Given the description of an element on the screen output the (x, y) to click on. 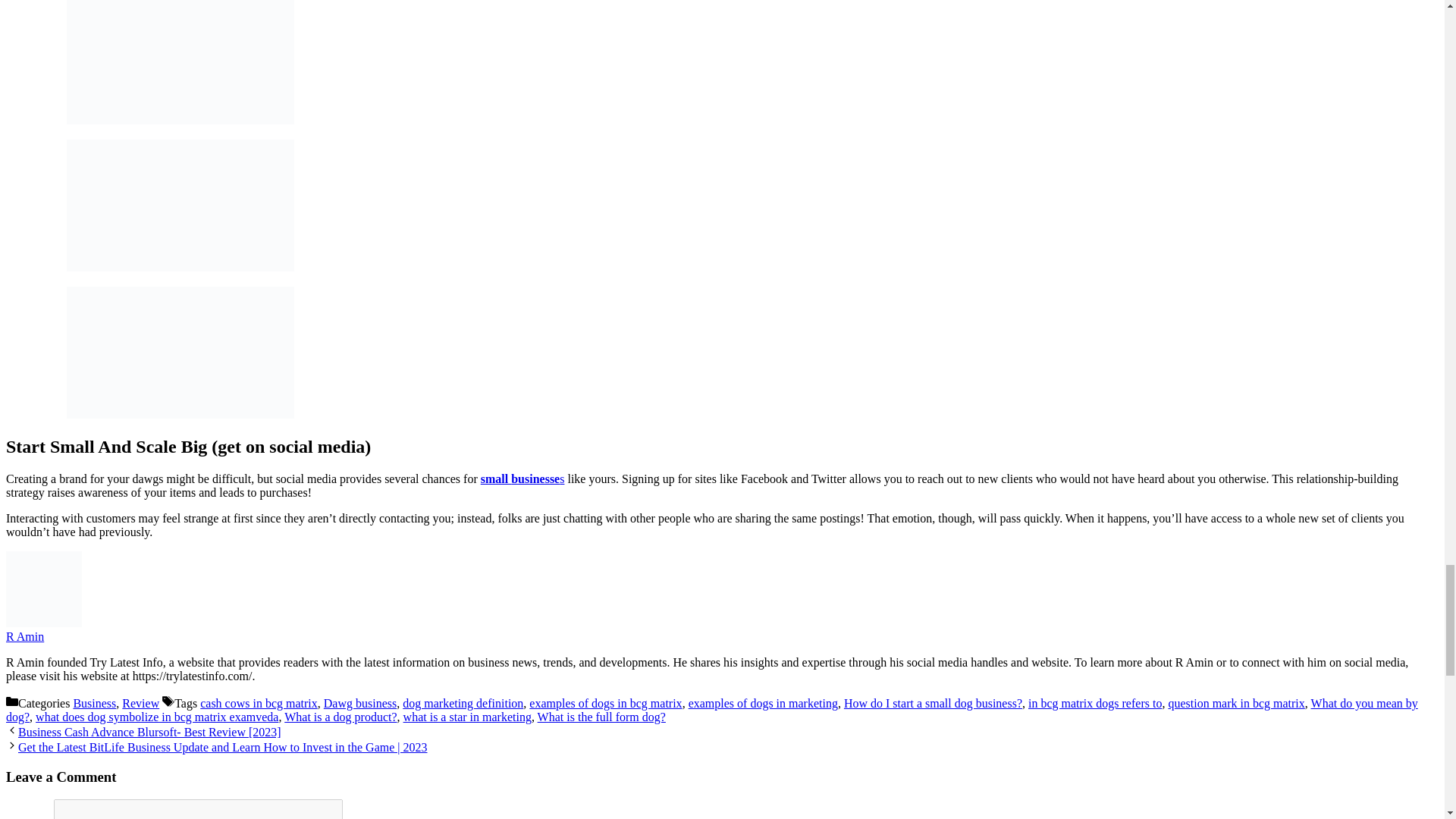
small (495, 478)
